Given the description of an element on the screen output the (x, y) to click on. 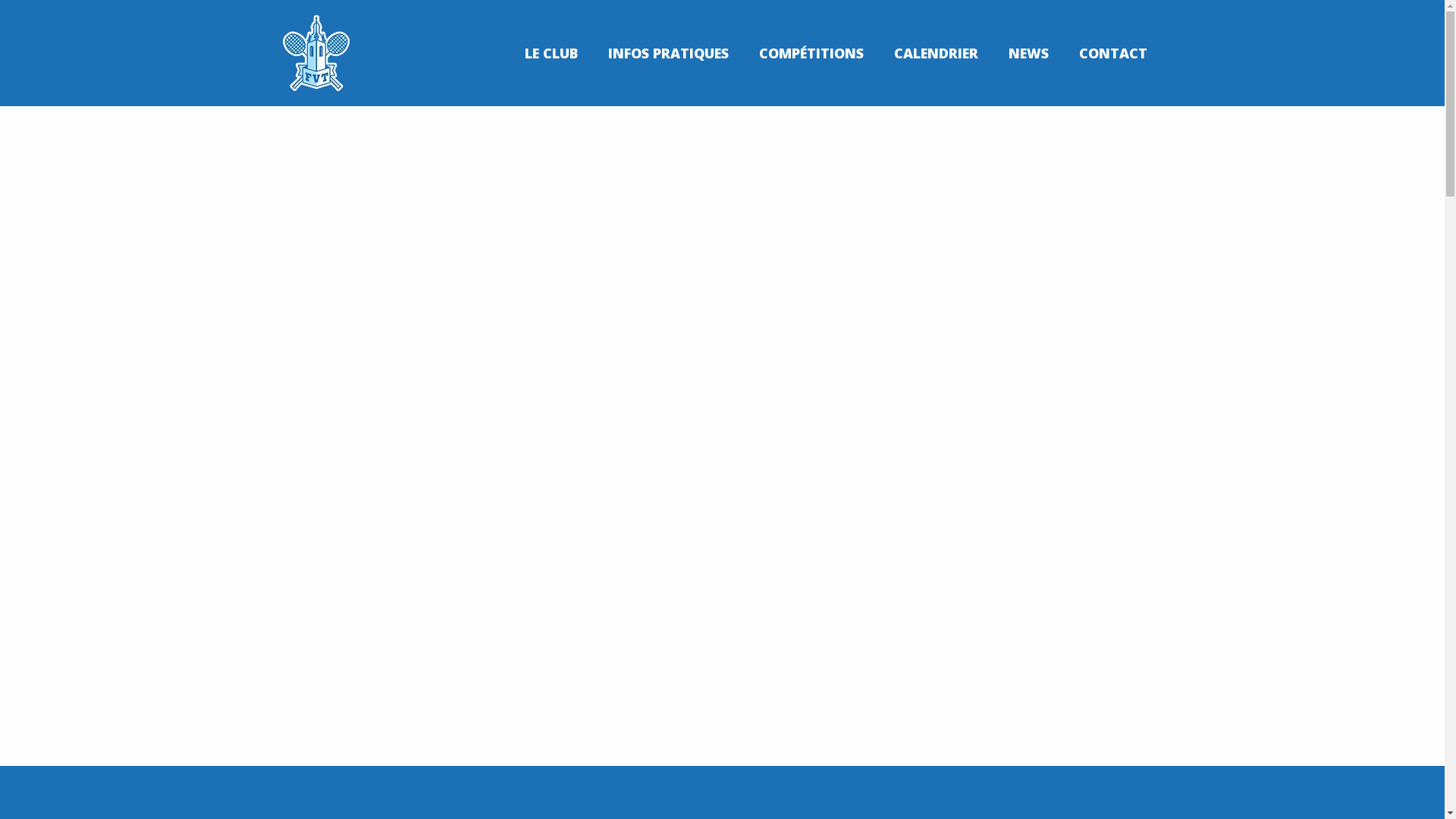
LE CLUB Element type: text (551, 52)
CONTACT Element type: text (1112, 52)
NEWS Element type: text (1028, 52)
CALENDRIER Element type: text (935, 52)
INFOS PRATIQUES Element type: text (668, 52)
